Given the description of an element on the screen output the (x, y) to click on. 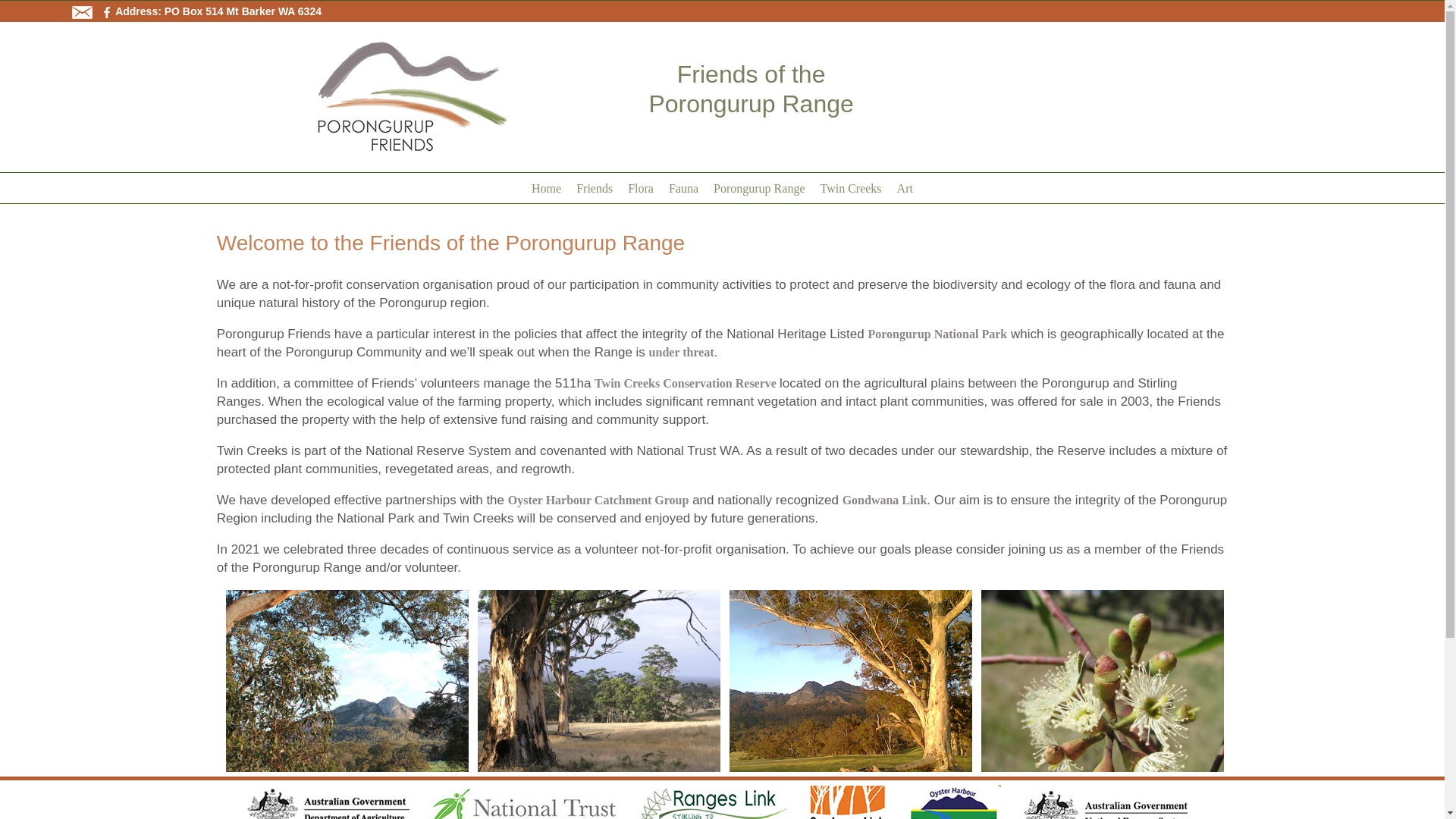
Twin Creeks Element type: text (850, 186)
Flora Element type: text (640, 186)
Gondwana Link Element type: text (884, 499)
Art Element type: text (904, 186)
Porongurup Range Element type: text (759, 186)
Friends Element type: text (594, 186)
Fauna Element type: text (683, 186)
Oyster Harbour Catchment Group Element type: text (598, 499)
Twin Creeks Conservation Reserve Element type: text (686, 382)
under threat Element type: text (681, 351)
Home Element type: text (546, 186)
Porongurup National Park Element type: text (937, 333)
